Given the description of an element on the screen output the (x, y) to click on. 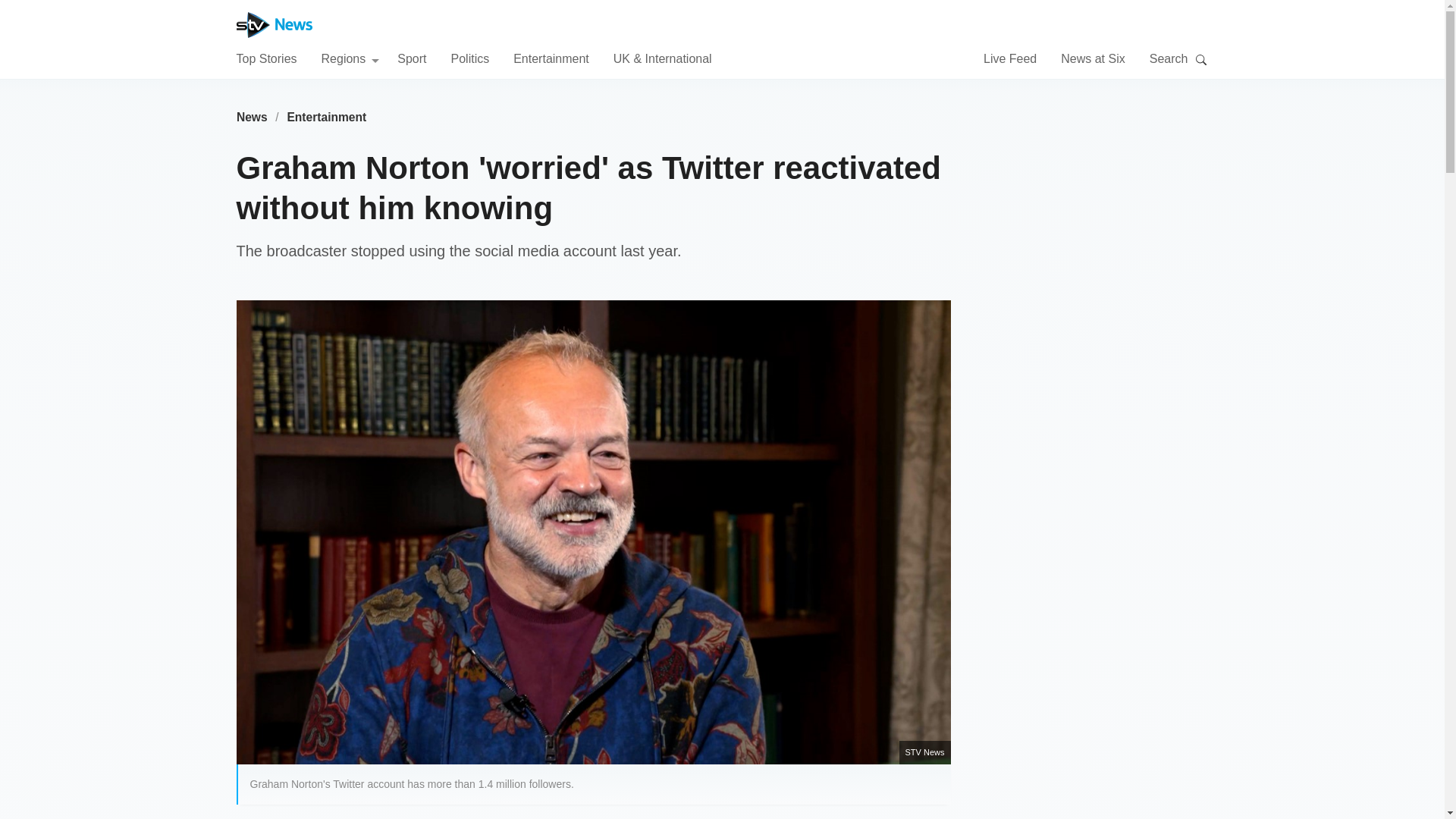
Live Feed (1010, 57)
Search (1201, 59)
Politics (469, 57)
News at Six (1092, 57)
News (252, 116)
Entertainment (551, 57)
Top Stories (266, 57)
Regions (350, 57)
Entertainment (326, 116)
